Given the description of an element on the screen output the (x, y) to click on. 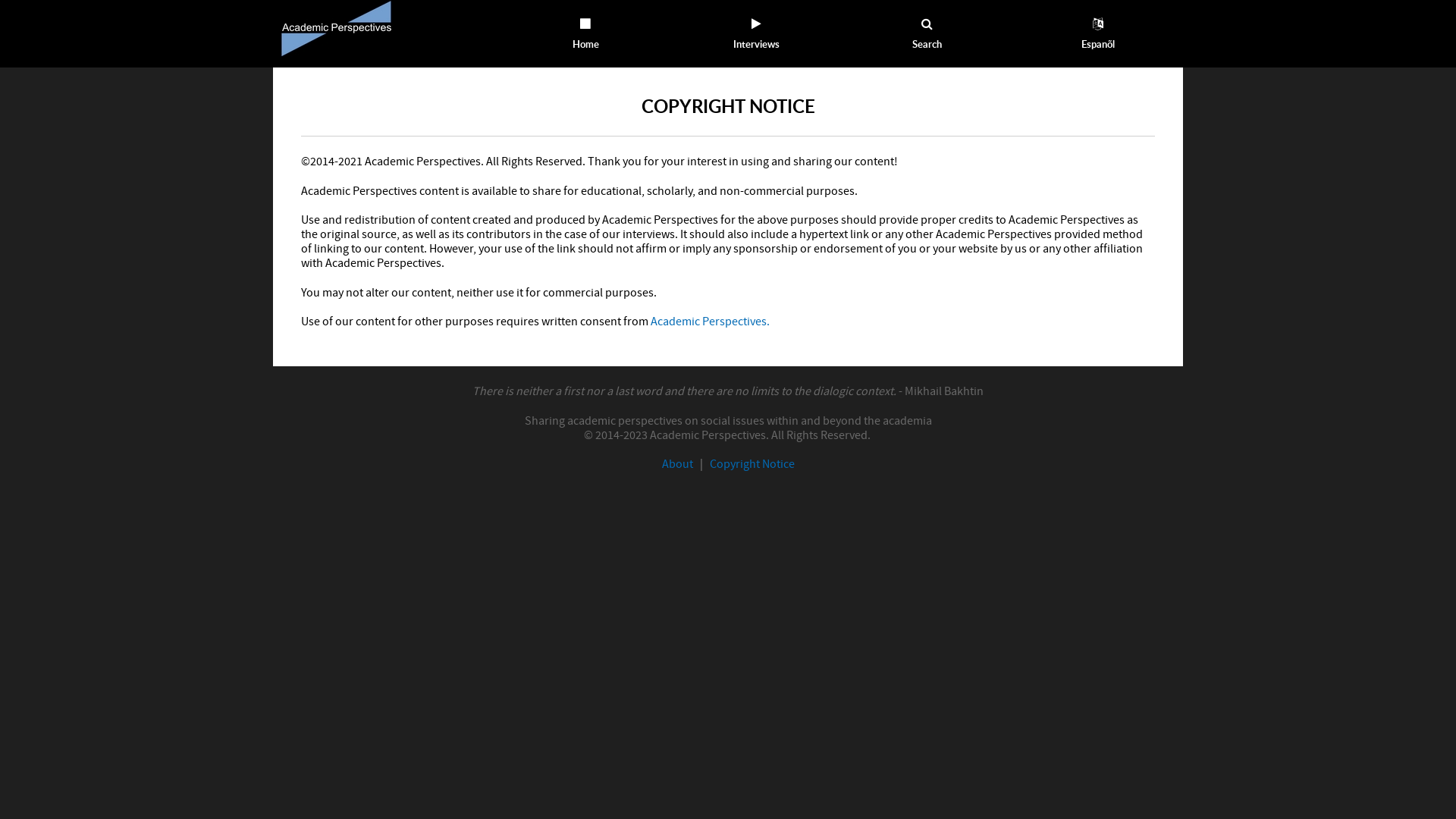
Academic Perspectives Element type: hover (336, 27)
Search Element type: text (926, 32)
Home Element type: text (585, 32)
Academic Perspectives. Element type: text (709, 321)
Interviews Element type: text (756, 32)
About Element type: text (676, 463)
Copyright Notice Element type: text (751, 463)
